Given the description of an element on the screen output the (x, y) to click on. 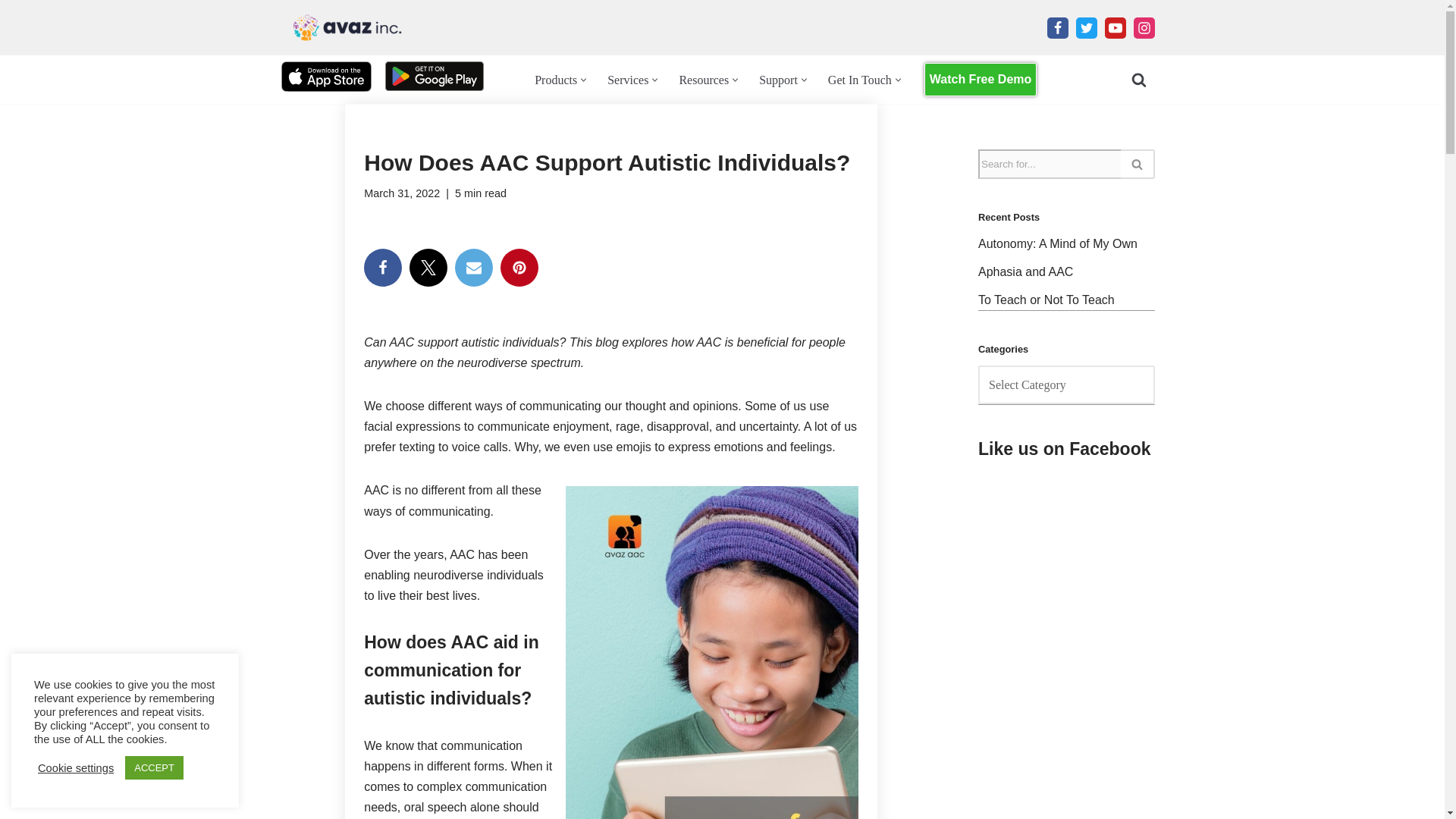
Instagram (1143, 27)
Pinterest (519, 267)
Youtube (1114, 27)
Resources (703, 79)
Skip to content (11, 31)
Facebook (382, 267)
Services (627, 79)
Products (555, 79)
Get In Touch (859, 79)
Facebook (1056, 27)
